Given the description of an element on the screen output the (x, y) to click on. 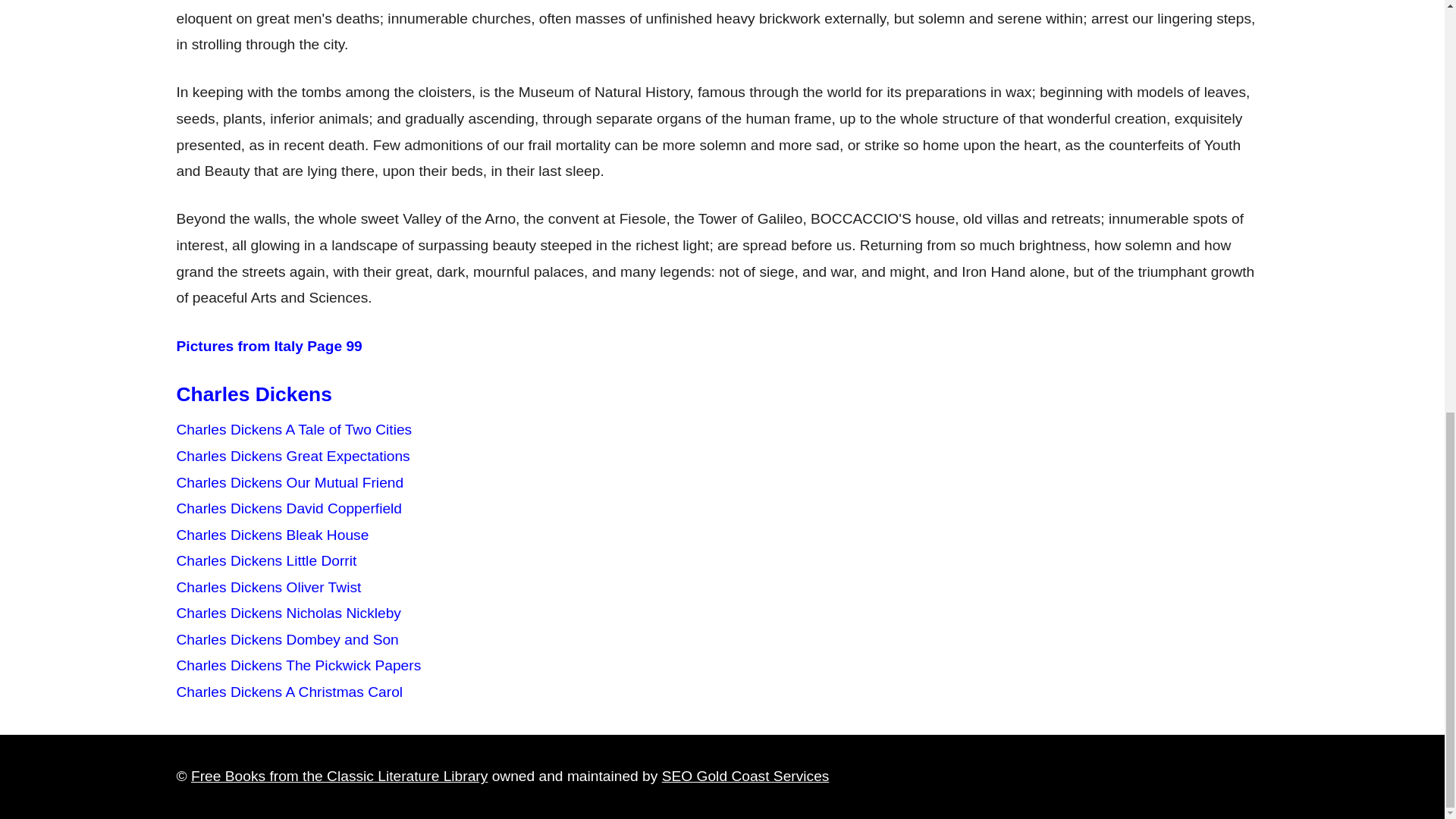
Charles Dickens Nicholas Nickleby (288, 612)
SEO Gold Coast Services (745, 775)
Charles Dickens Great Expectations (292, 455)
Charles Dickens A Tale of Two Cities (294, 429)
Charles Dickens Bleak House (272, 534)
Charles Dickens (253, 394)
Free Books from the Classic Literature Library (338, 775)
Charles Dickens Dombey and Son (286, 639)
Charles Dickens Little Dorrit (266, 560)
Charles Dickens Oliver Twist (268, 587)
Charles Dickens A Christmas Carol (289, 691)
Charles Dickens The Pickwick Papers (298, 665)
Pictures from Italy Page 99 (268, 345)
Charles Dickens Our Mutual Friend (289, 482)
Charles Dickens David Copperfield (288, 508)
